Given the description of an element on the screen output the (x, y) to click on. 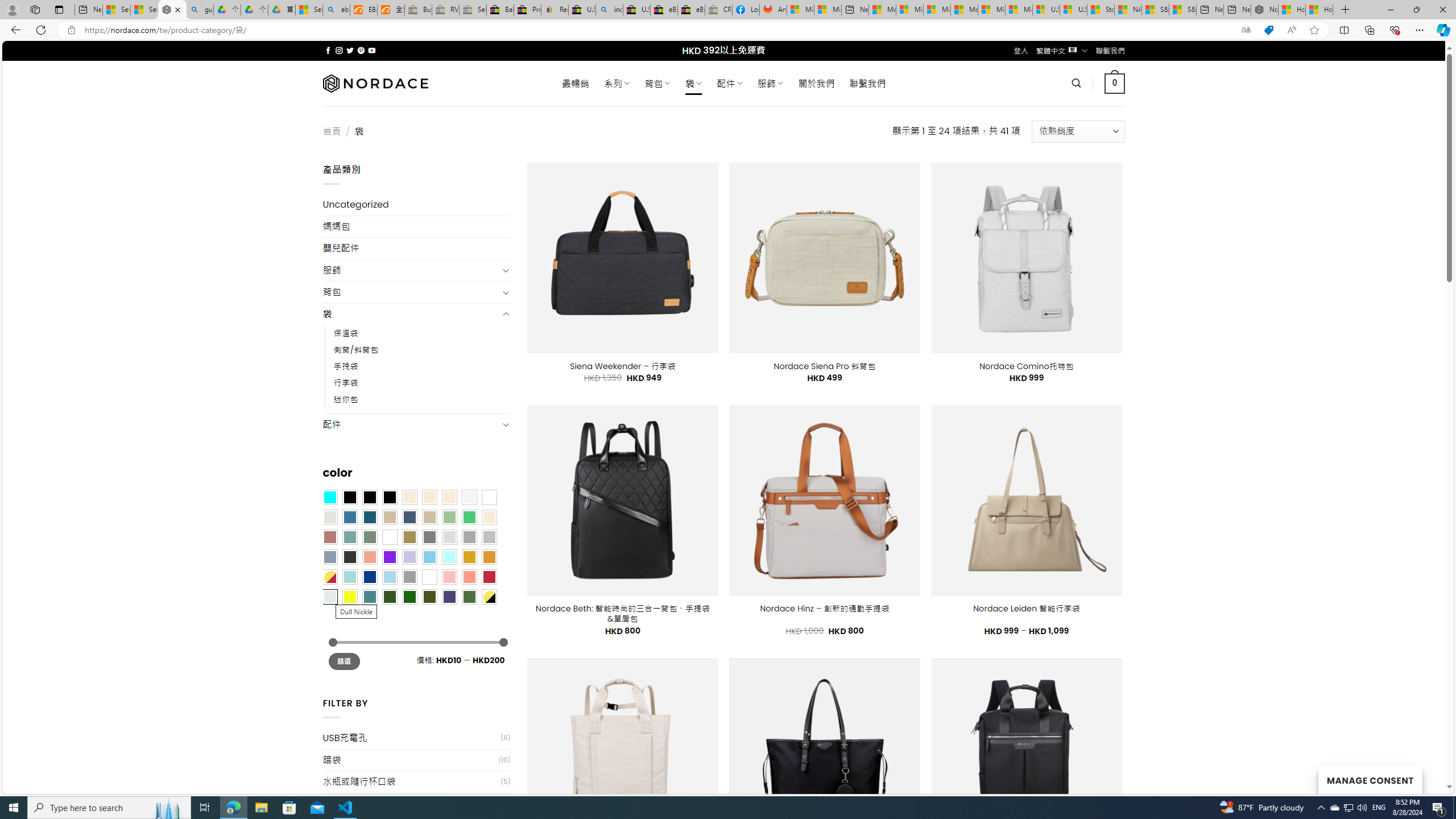
Buy Auto Parts & Accessories | eBay - Sleeping (418, 9)
